Given the description of an element on the screen output the (x, y) to click on. 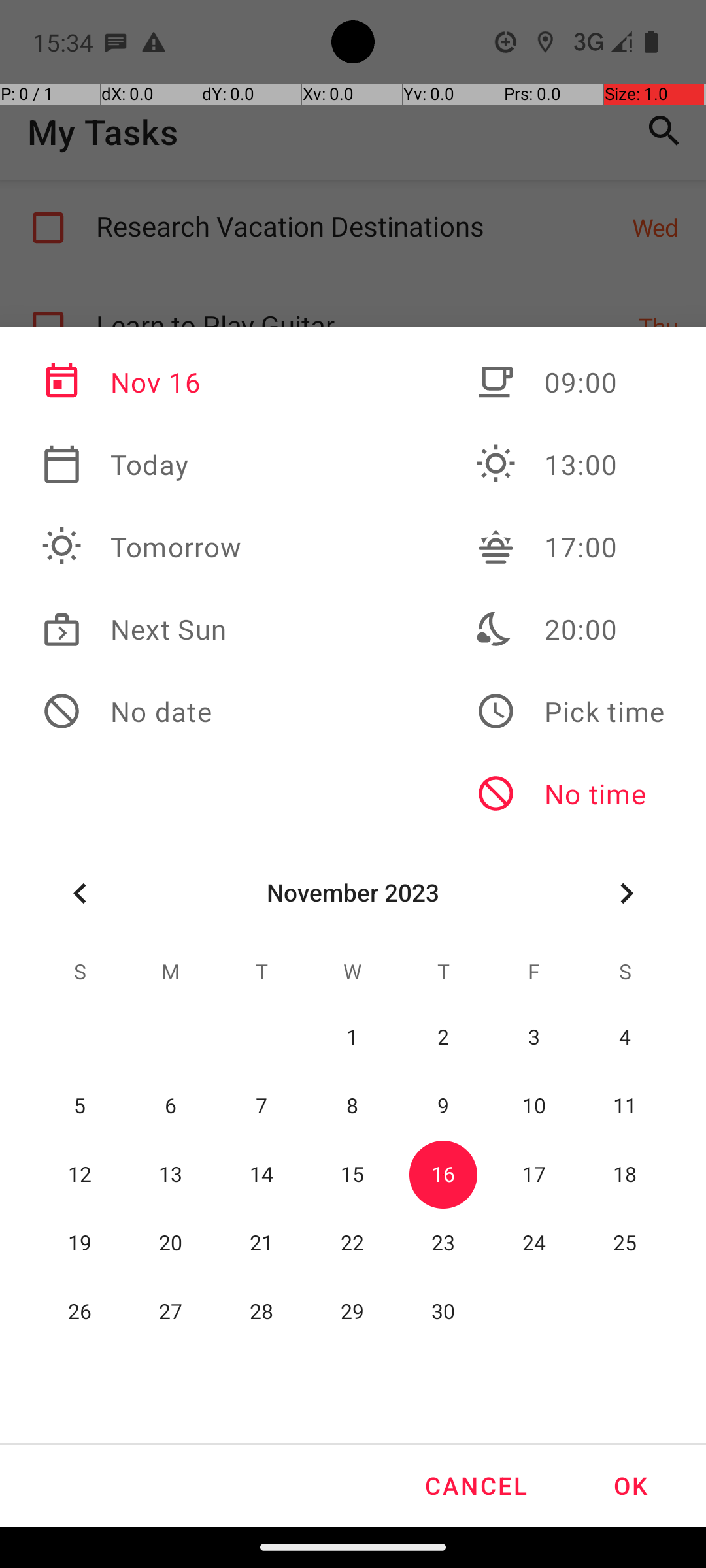
Nov 16 Element type: android.widget.CompoundButton (141, 382)
